Given the description of an element on the screen output the (x, y) to click on. 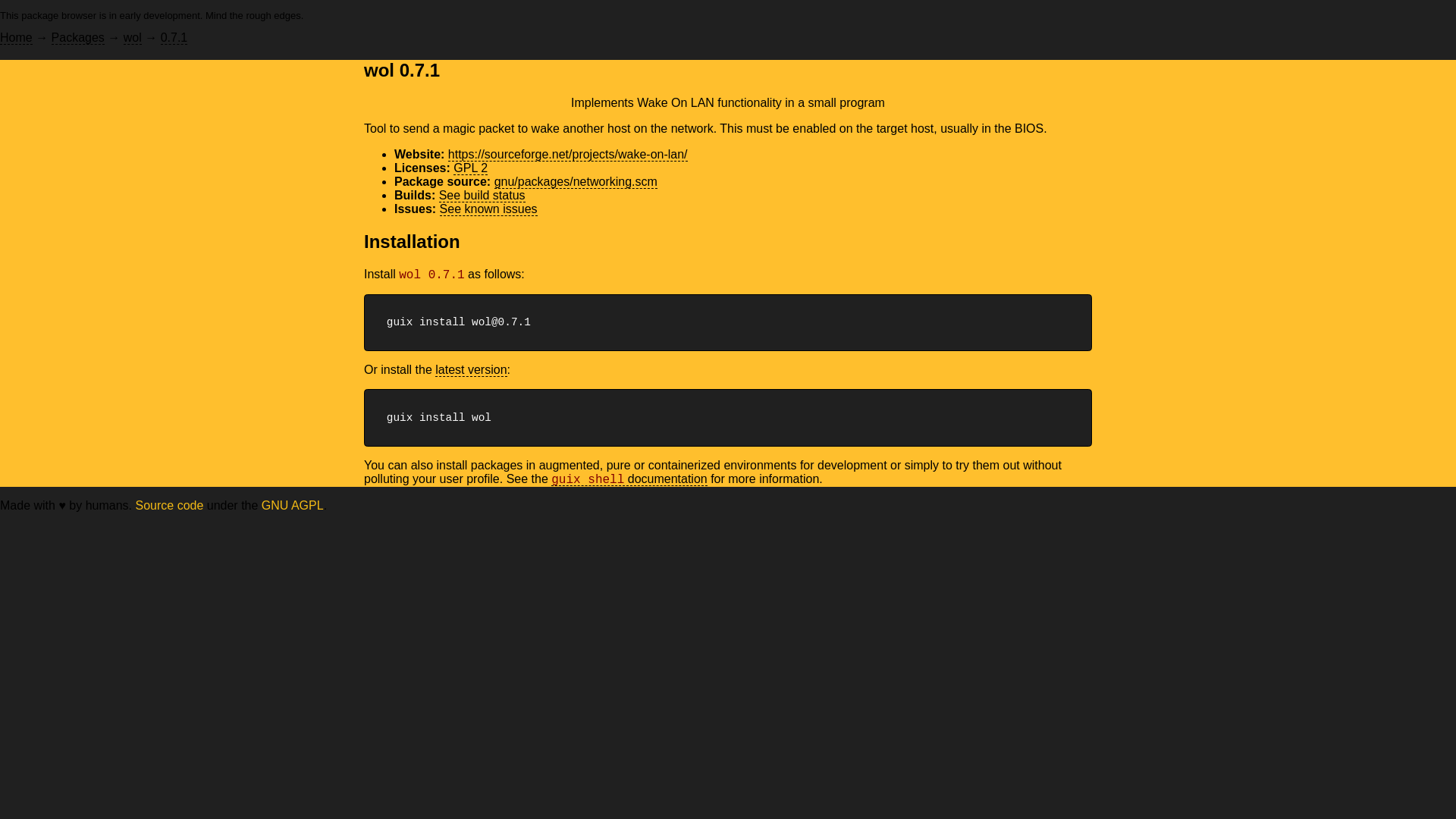
GPL 2 (469, 168)
0.7.1 (173, 38)
latest version (470, 369)
Source code (169, 504)
wol (132, 38)
See build status (482, 195)
guix shell documentation (628, 479)
GNU AGPL (292, 504)
Home (16, 38)
Packages (77, 38)
See known issues (488, 209)
